Given the description of an element on the screen output the (x, y) to click on. 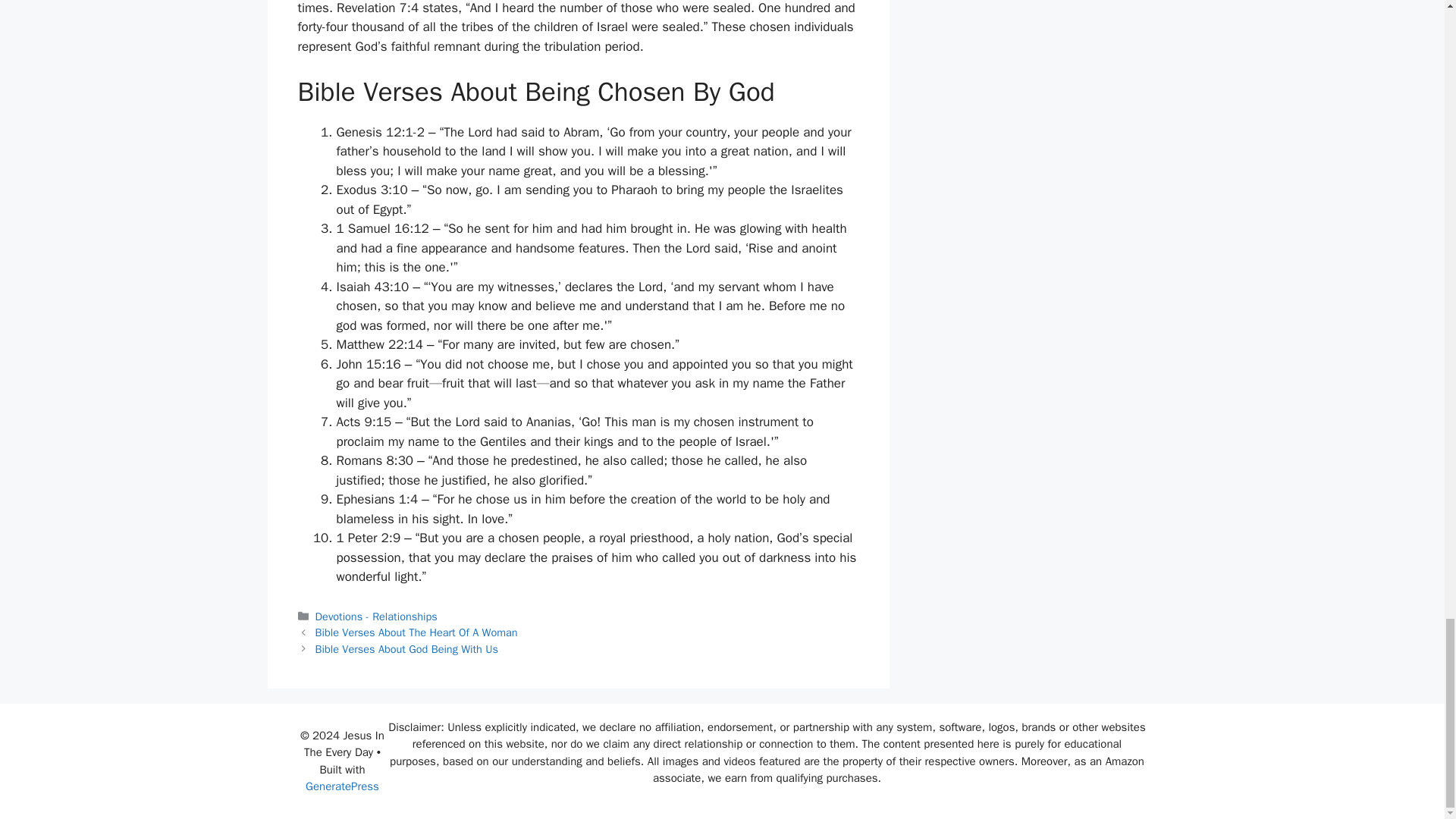
GeneratePress (341, 786)
Devotions - Relationships (376, 616)
Bible Verses About The Heart Of A Woman (416, 632)
Bible Verses About God Being With Us (406, 649)
